Given the description of an element on the screen output the (x, y) to click on. 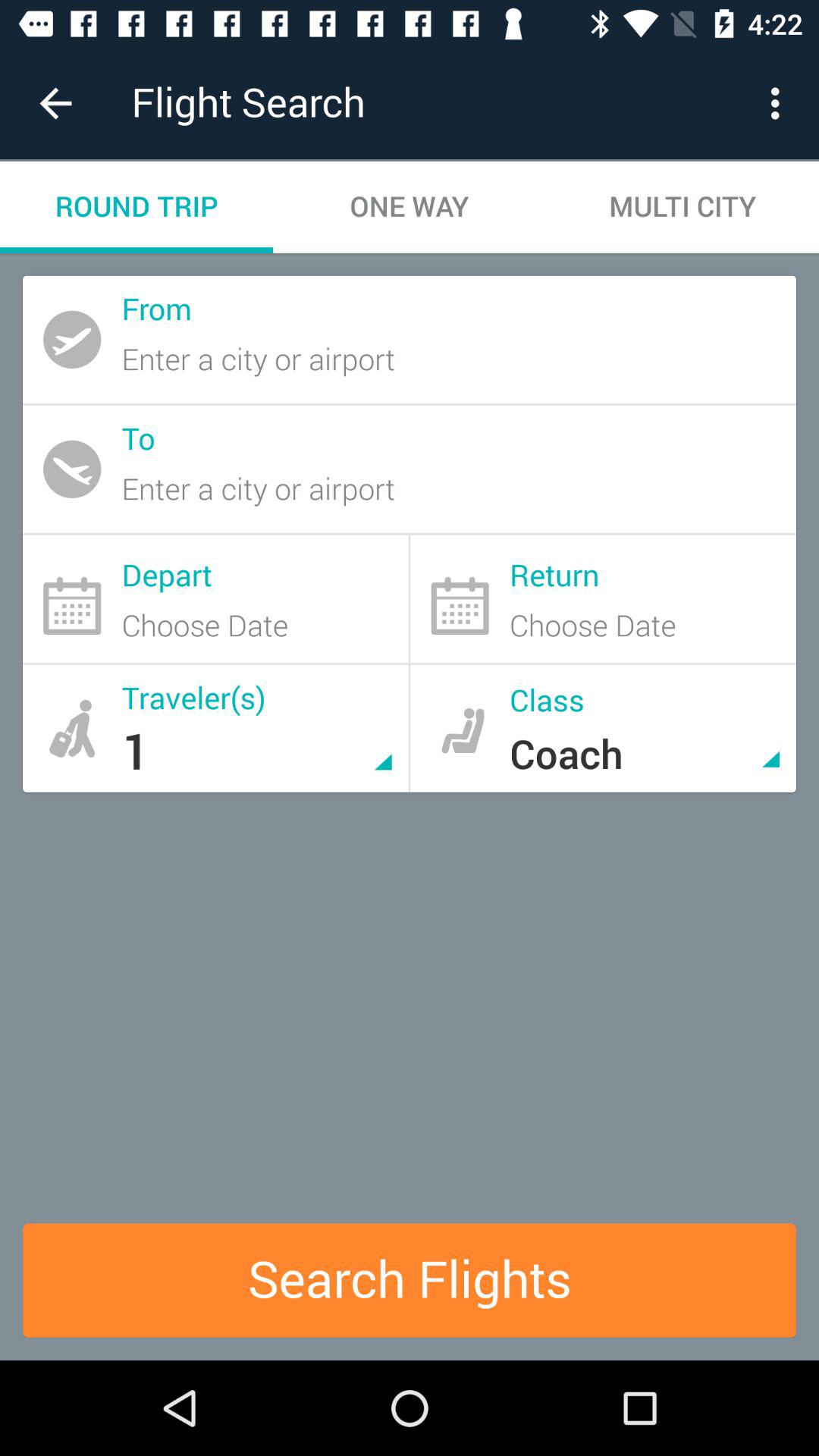
select item to the left of flight search icon (55, 103)
